Given the description of an element on the screen output the (x, y) to click on. 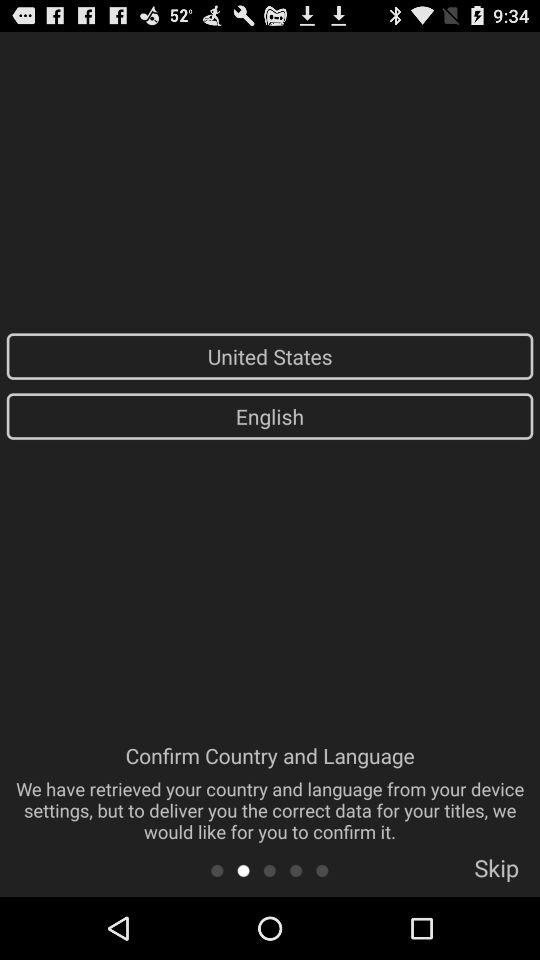
go to page 5 (321, 870)
